Given the description of an element on the screen output the (x, y) to click on. 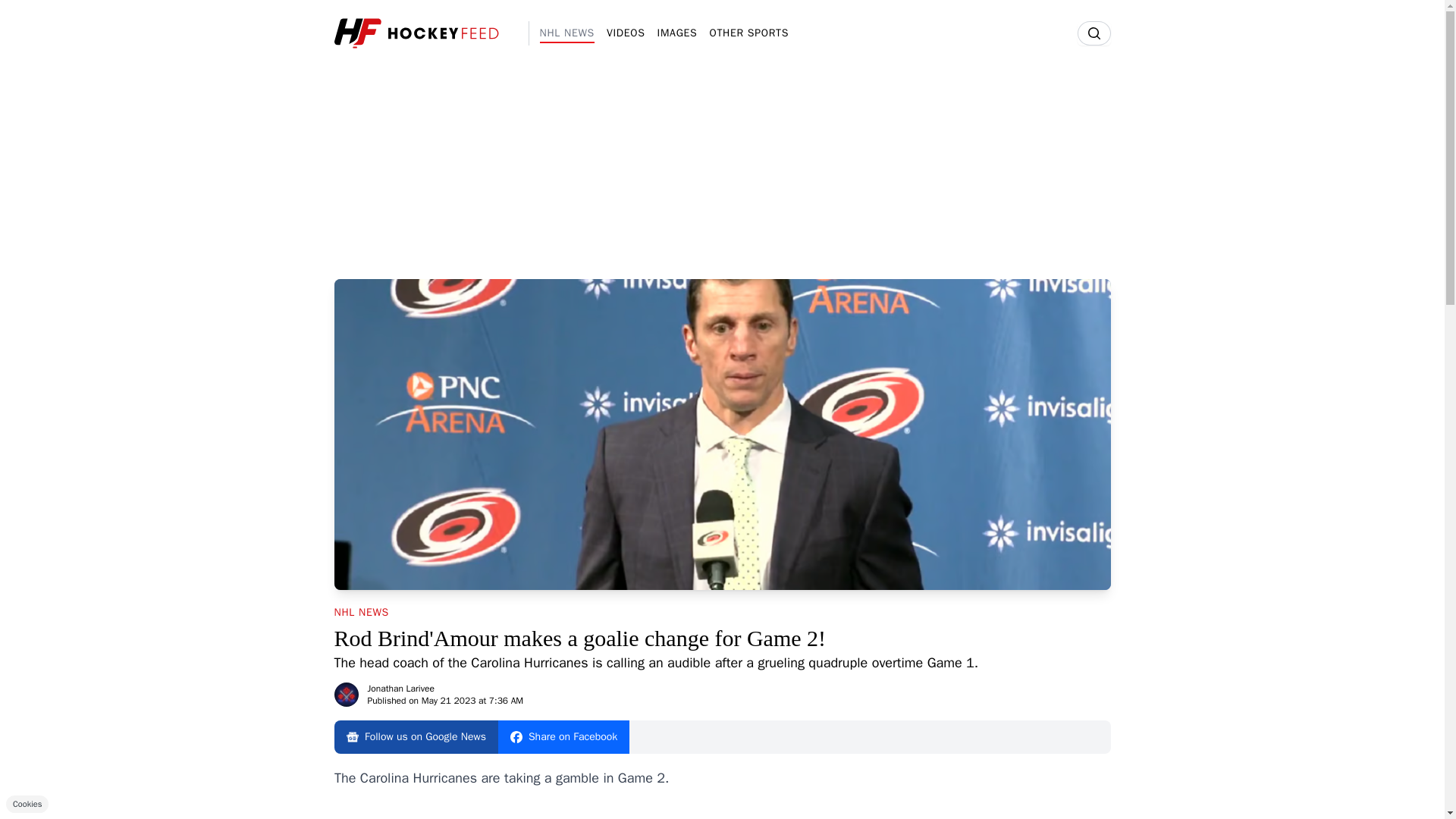
NHL NEWS (567, 34)
Share on Facebook (562, 736)
Follow us on Google News (415, 736)
Jonathan Larivee (399, 688)
IMAGES (677, 34)
VIDEOS (626, 34)
NHL NEWS (360, 613)
Cookies (26, 804)
OTHER SPORTS (749, 34)
